Given the description of an element on the screen output the (x, y) to click on. 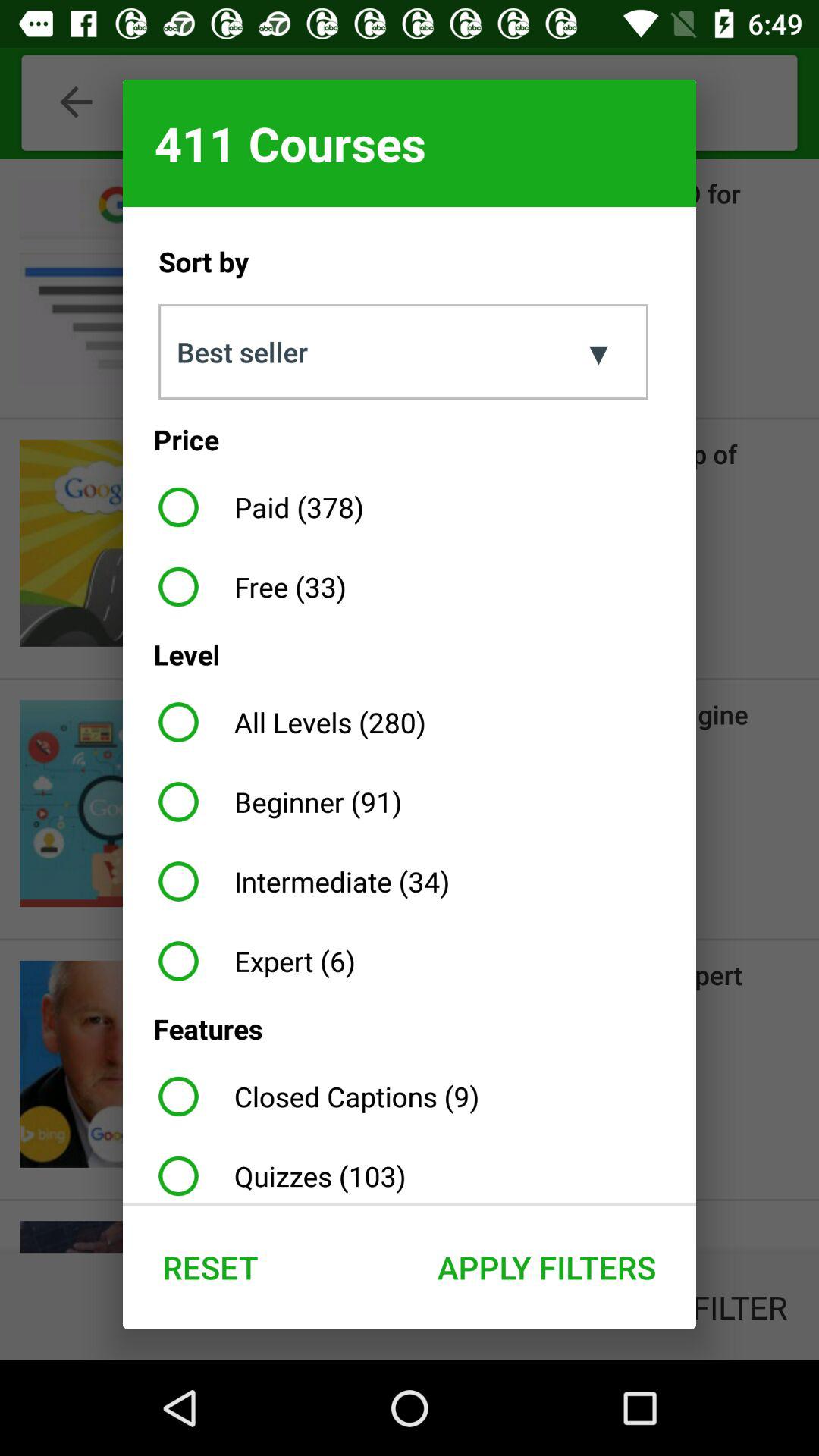
turn on icon below the price (255, 507)
